Given the description of an element on the screen output the (x, y) to click on. 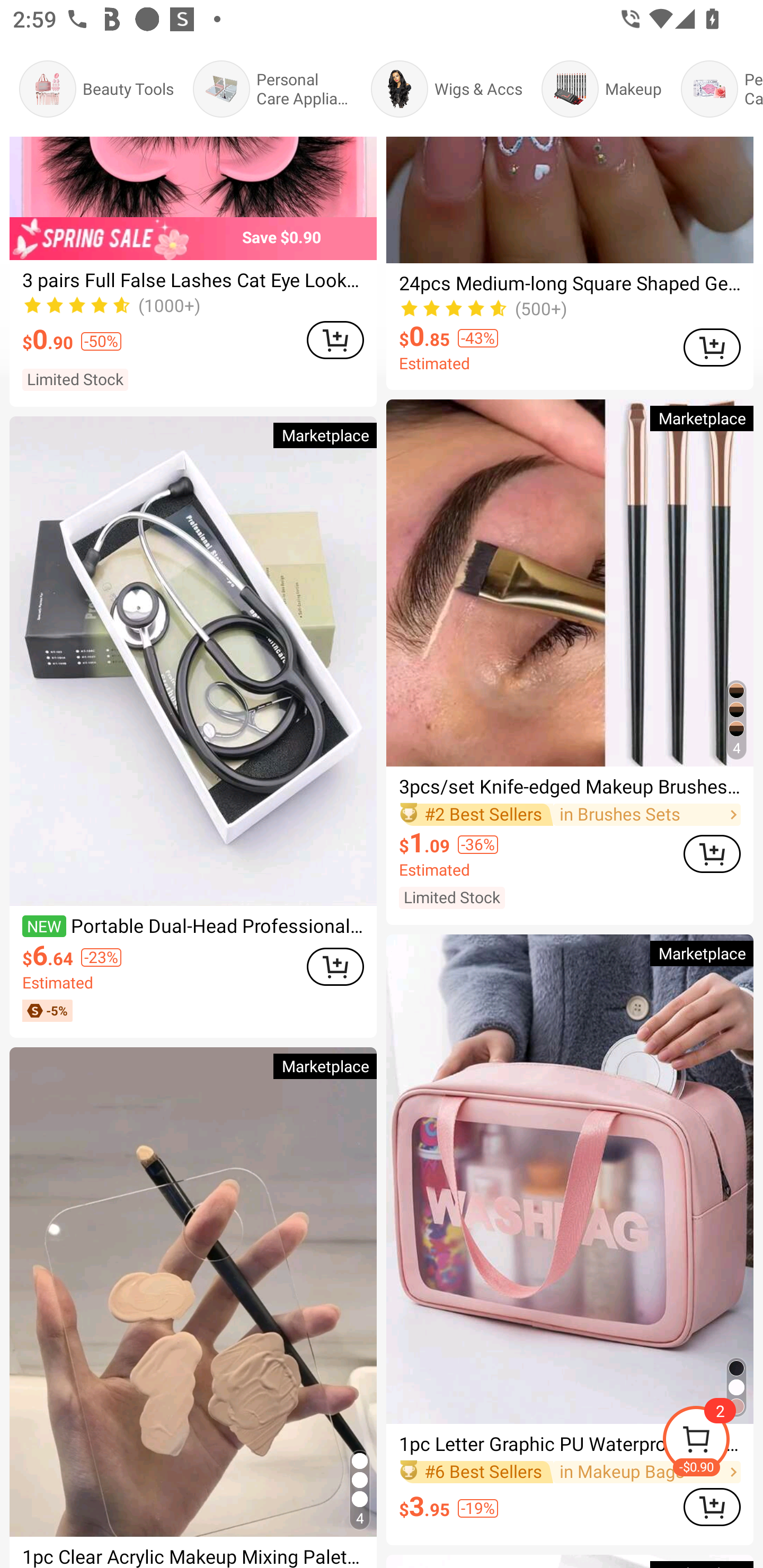
Beauty Tools (96, 89)
Personal Care Appliance (272, 89)
Wigs & Accs (446, 89)
Makeup (601, 89)
Personal Care (721, 89)
ADD TO CART (334, 340)
ADD TO CART (711, 346)
#2 Best Sellers in Brushes Sets (569, 814)
ADD TO CART (711, 853)
ADD TO CART (334, 966)
-$0.90 (712, 1441)
#6 Best Sellers in Makeup Bags (569, 1471)
ADD TO CART (711, 1506)
